Given the description of an element on the screen output the (x, y) to click on. 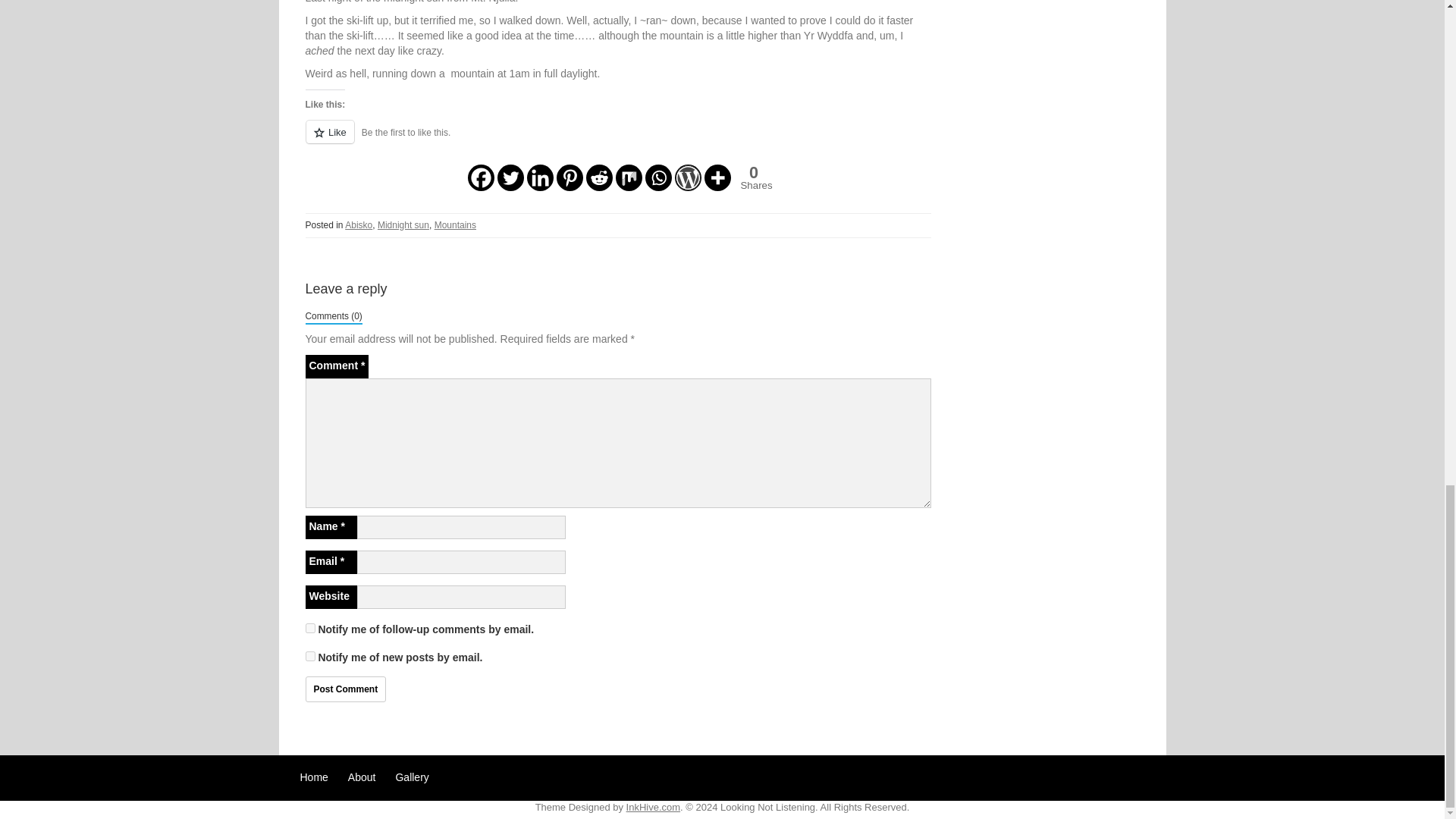
subscribe (309, 655)
Mountains (750, 177)
Post Comment (454, 225)
Twitter (344, 688)
Facebook (510, 177)
Reddit (480, 177)
More (598, 177)
subscribe (716, 177)
Pinterest (309, 628)
Whatsapp (569, 177)
Mix (658, 177)
Midnight sun (628, 177)
Linkedin (403, 225)
Post Comment (539, 177)
